Given the description of an element on the screen output the (x, y) to click on. 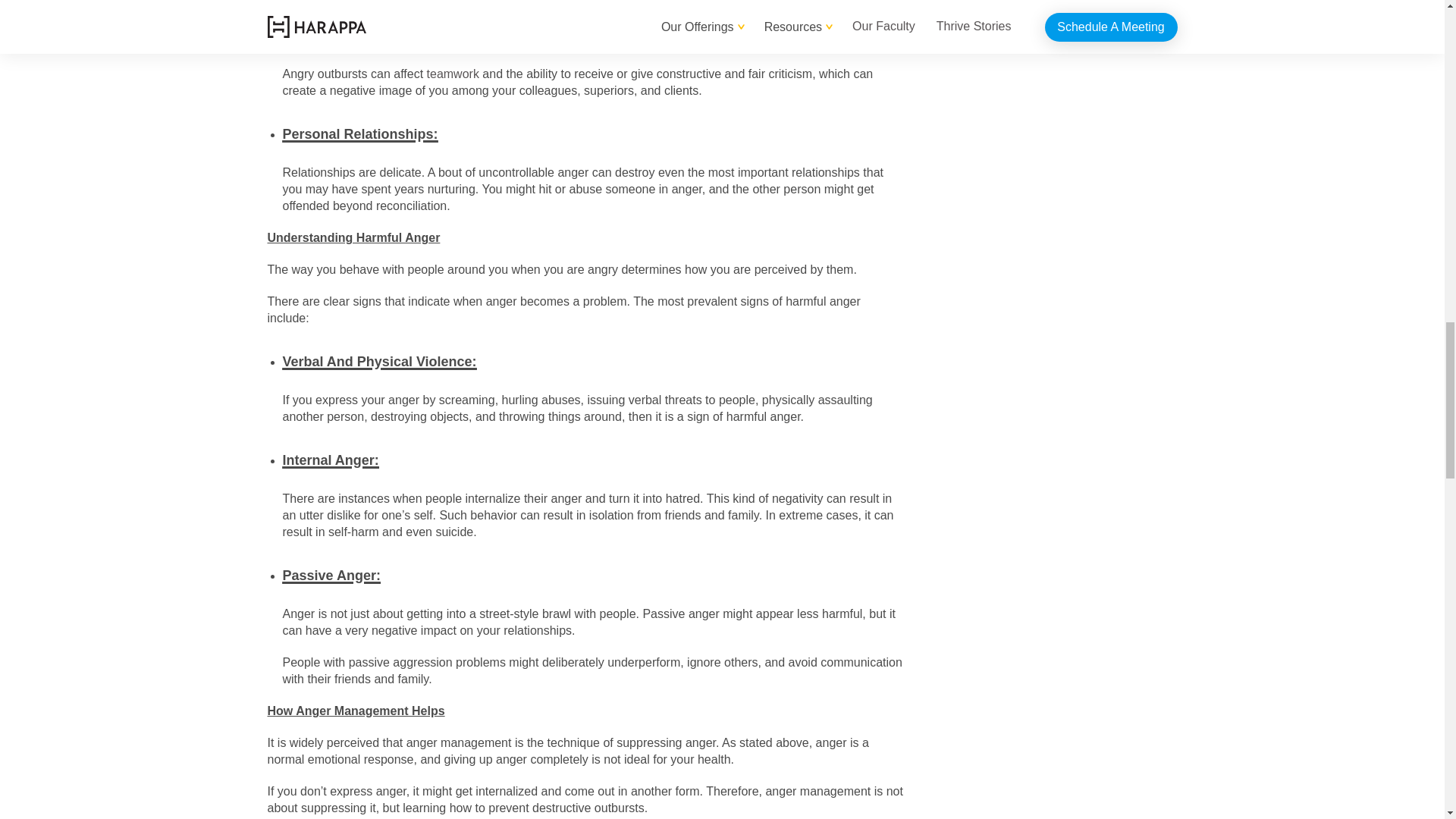
teamwork (452, 73)
